Given the description of an element on the screen output the (x, y) to click on. 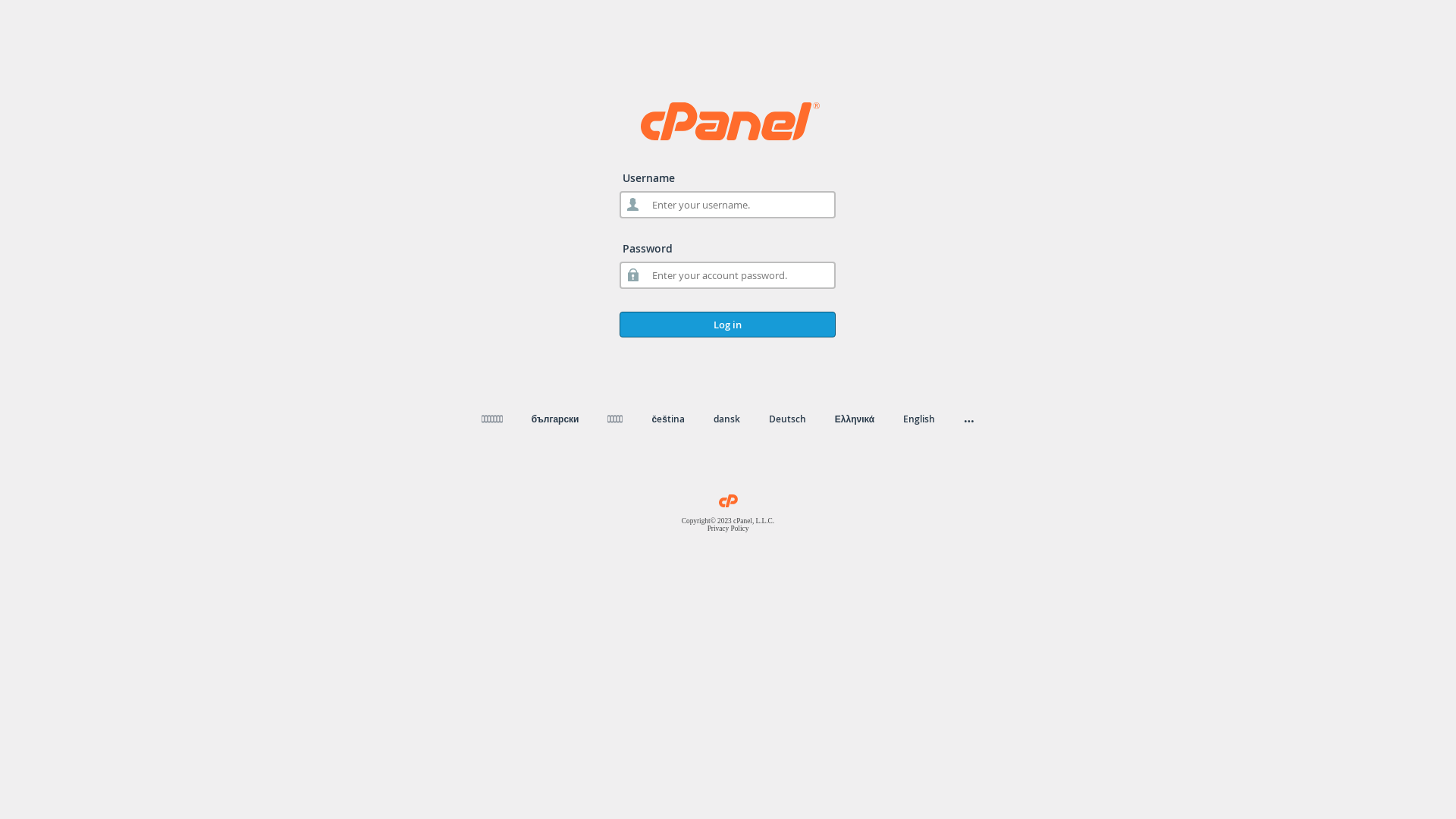
Privacy Policy Element type: text (728, 528)
Deutsch Element type: text (787, 418)
English Element type: text (919, 418)
Log in Element type: text (727, 324)
dansk Element type: text (726, 418)
